Given the description of an element on the screen output the (x, y) to click on. 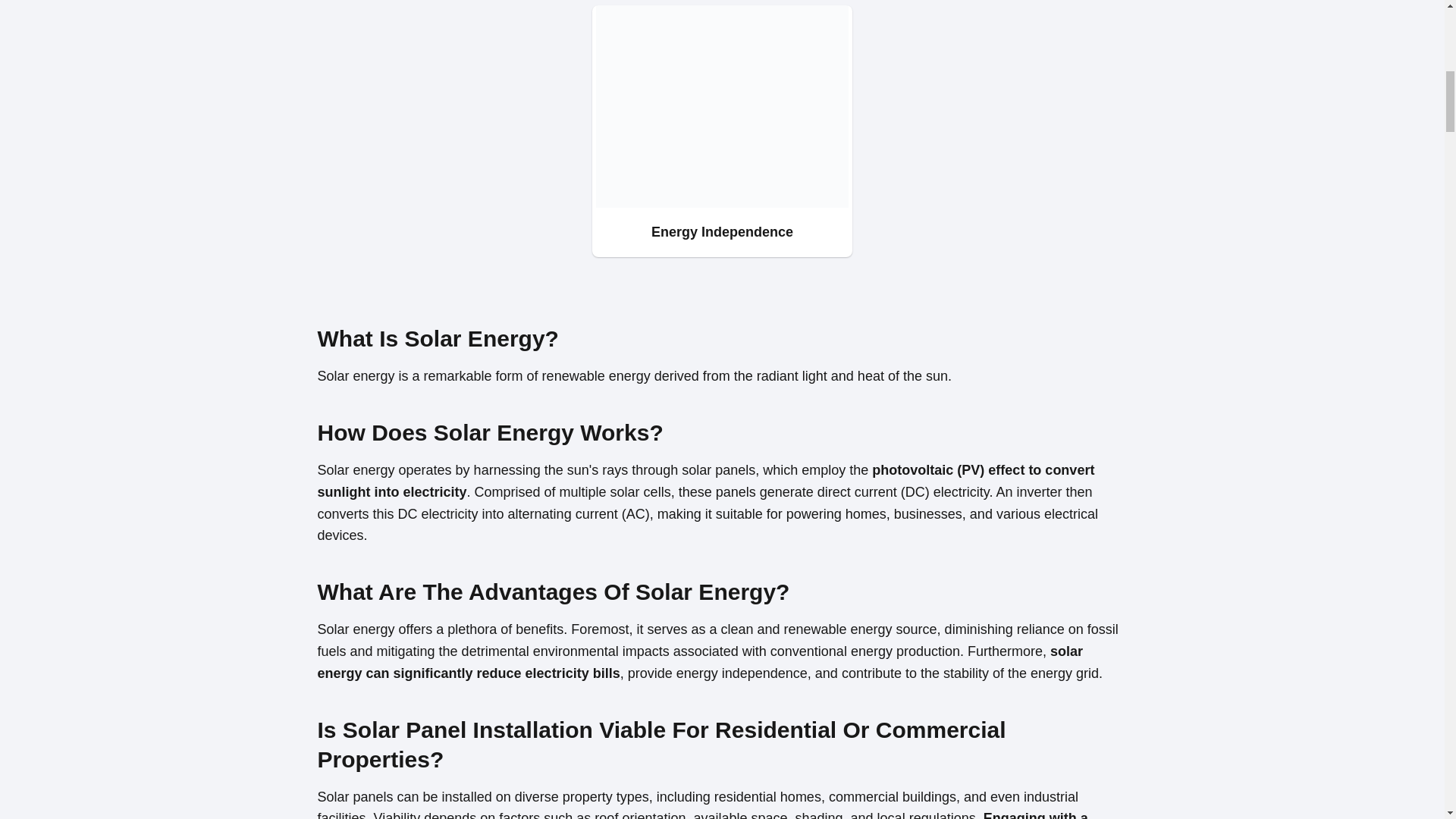
Energy Independence (721, 130)
Energy Independence: 10 Secrets! 7 (721, 106)
Energy Independence (721, 130)
